Given the description of an element on the screen output the (x, y) to click on. 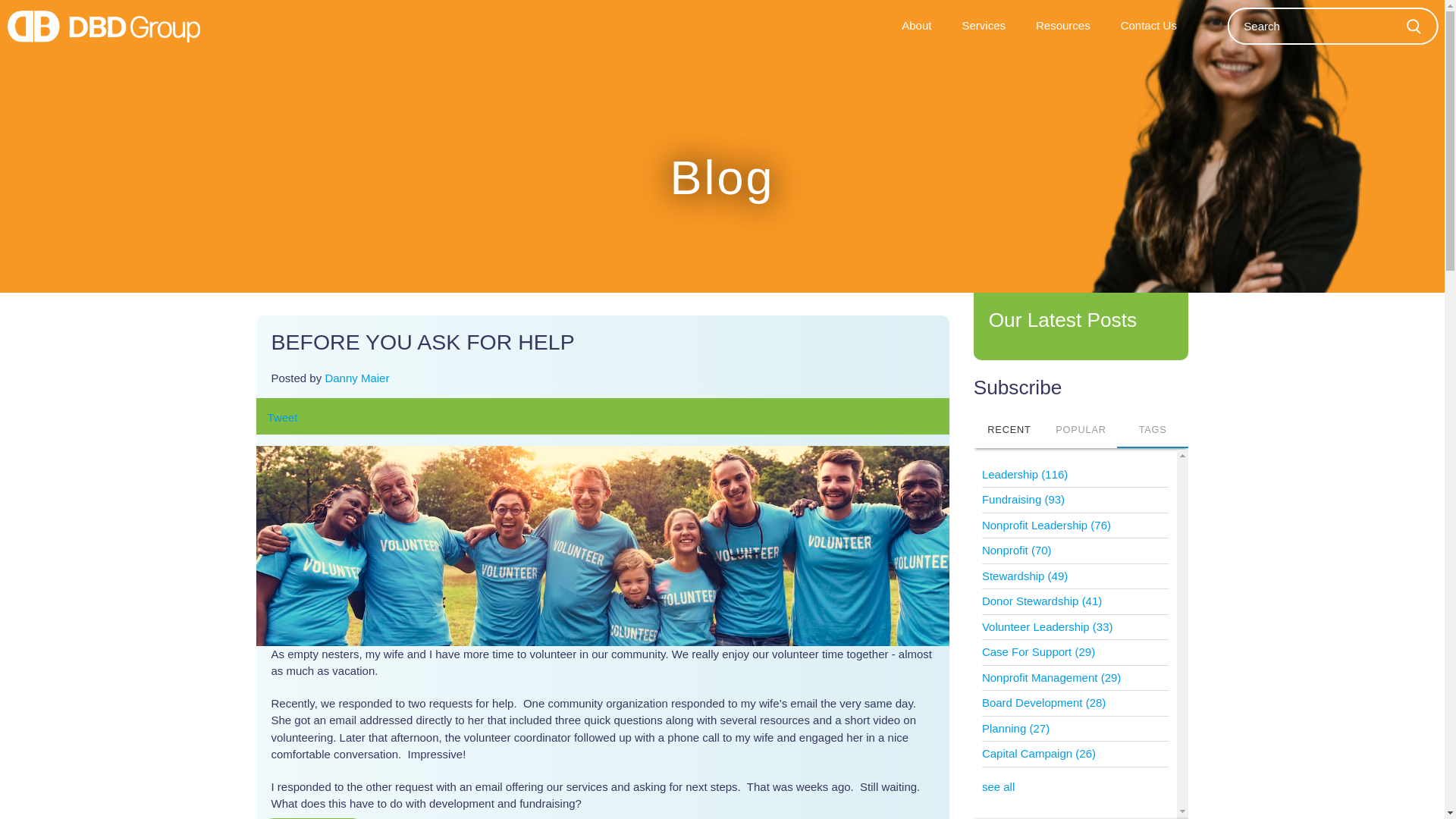
Resources (1062, 25)
About (916, 25)
Services (983, 25)
Danny Maier (356, 377)
Contact Us (1148, 25)
BEFORE YOU ASK FOR HELP (422, 341)
Tweet (281, 417)
dbd-logo-horizontal-1 (103, 26)
